Given the description of an element on the screen output the (x, y) to click on. 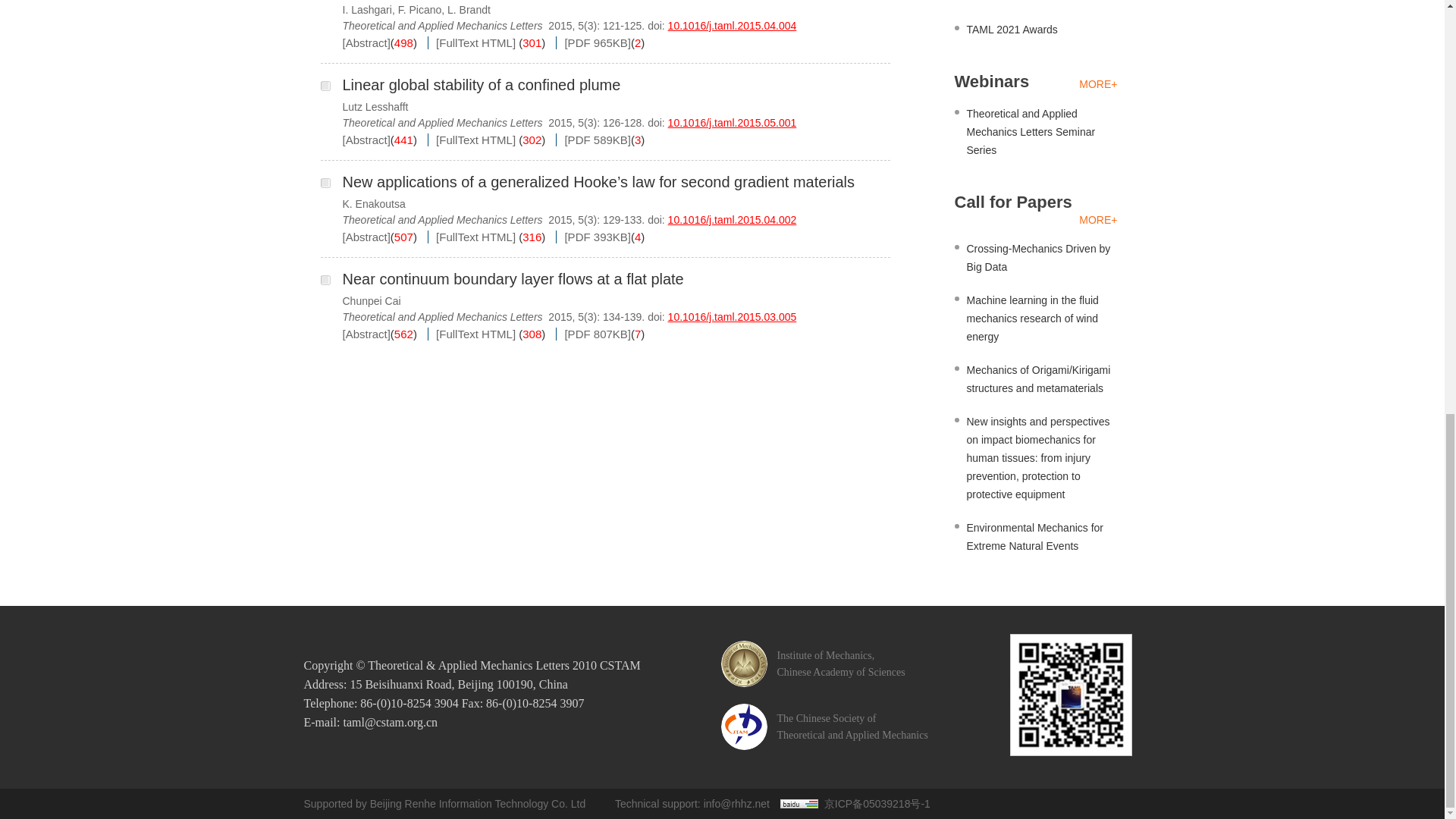
b904735c-9aaa-474d-b29c-32a49acb7764 (325, 280)
25593dbc-913d-428d-bdb0-209cf321cea6 (325, 183)
0d4a6895-9704-4422-9fe2-e655c6c1c4c8 (325, 85)
